Given the description of an element on the screen output the (x, y) to click on. 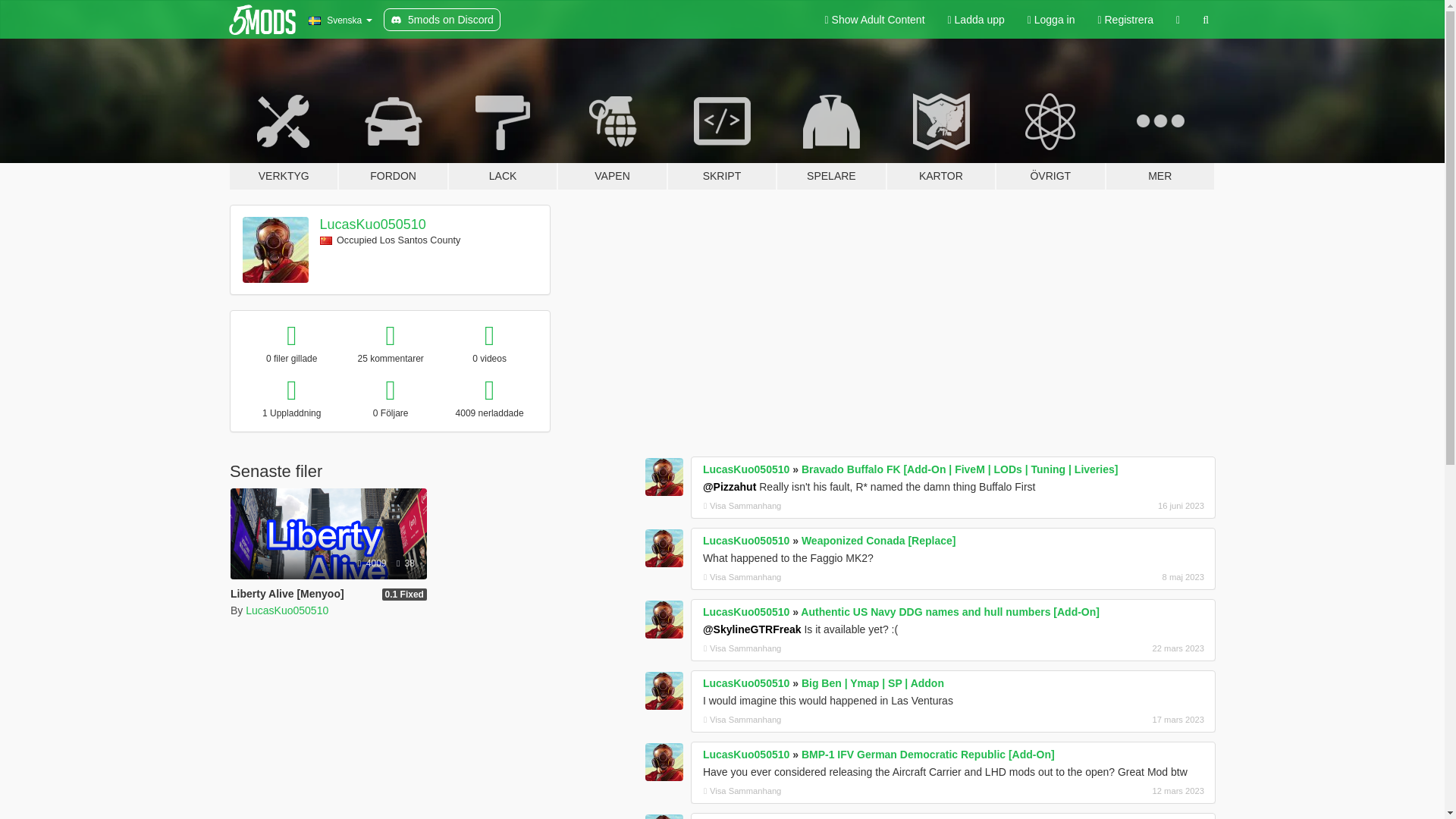
Ladda upp (976, 19)
Registrera (1125, 19)
Kina (325, 240)
  Svenska (339, 19)
38 Gillade (405, 562)
4009 Nerladdade (373, 562)
0.1 Fixed (403, 594)
Logga in (1051, 19)
5mods on Discord (442, 19)
Show Adult Content (874, 19)
